Given the description of an element on the screen output the (x, y) to click on. 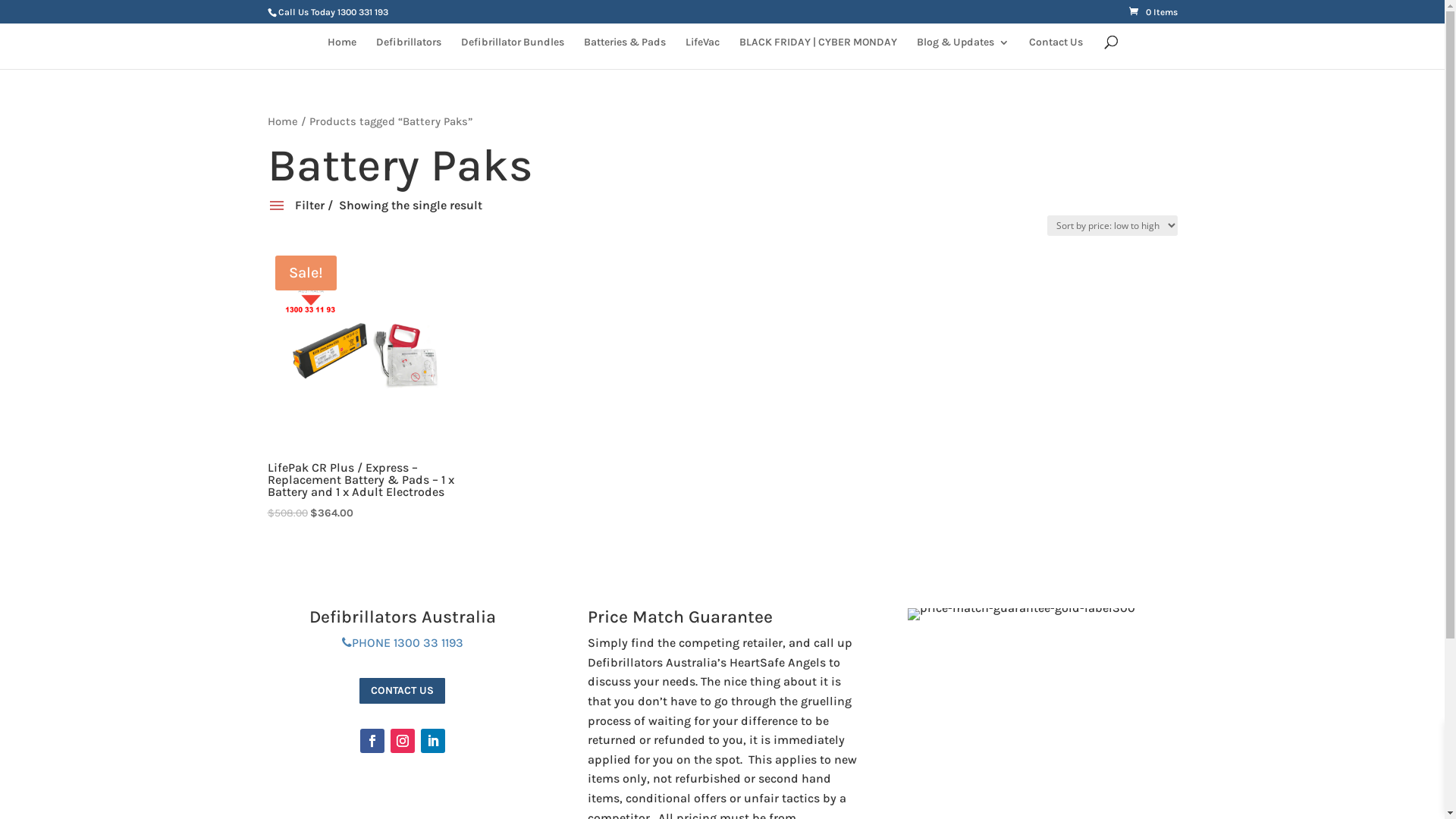
Blog & Updates Element type: text (962, 53)
Defibrillators Element type: text (408, 53)
Contact Us Element type: text (1055, 53)
CONTACT US Element type: text (402, 690)
Home Element type: text (341, 53)
0 Items Element type: text (1152, 11)
Defibrillator Bundles Element type: text (512, 53)
LifeVac Element type: text (702, 53)
PHONE 1300 33 1193 Element type: text (401, 642)
Price Match Guarantee Element type: text (678, 616)
BLACK FRIDAY | CYBER MONDAY Element type: text (817, 53)
Follow on Instagram Element type: hover (401, 740)
Home Element type: text (281, 121)
price-match-guarantee-gold-label300 Element type: hover (1020, 614)
Batteries & Pads Element type: text (624, 53)
Follow on LinkedIn Element type: hover (432, 740)
Follow on Facebook Element type: hover (371, 740)
Defibrillators Australia Element type: text (402, 616)
